Given the description of an element on the screen output the (x, y) to click on. 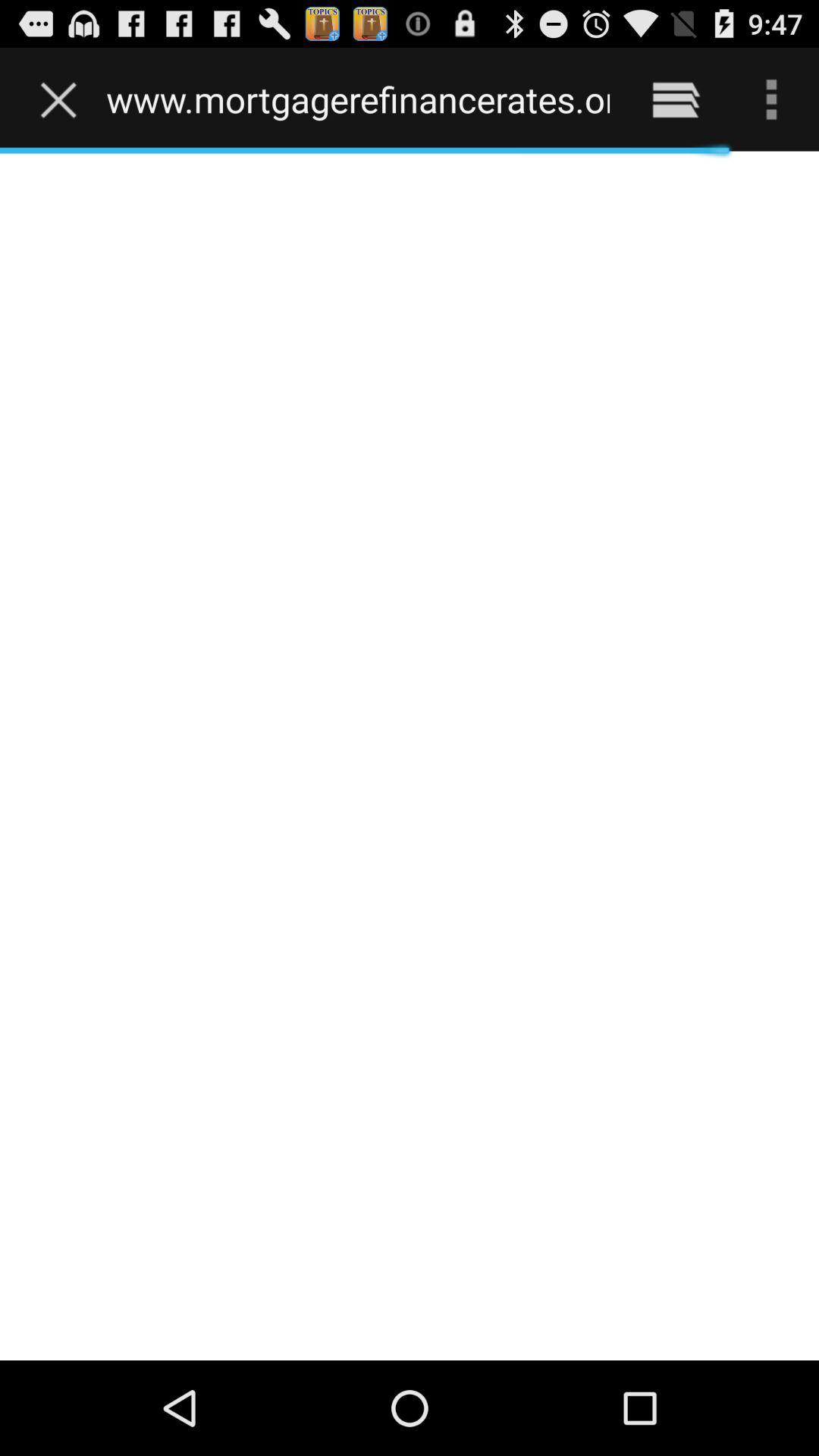
choose the item at the center (409, 755)
